Given the description of an element on the screen output the (x, y) to click on. 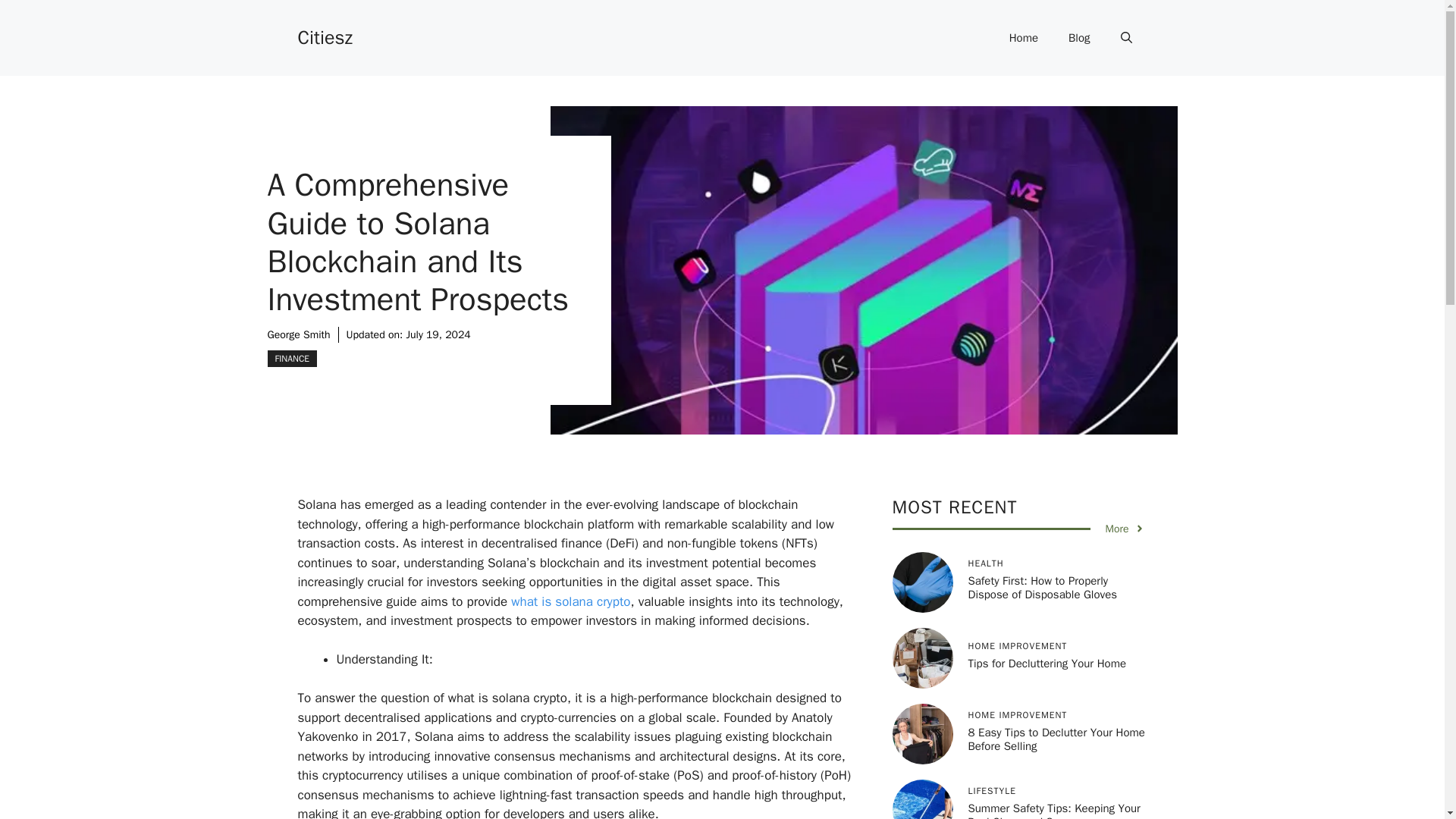
Citiesz (324, 37)
8 Easy Tips to Declutter Your Home Before Selling (1056, 738)
FINANCE (291, 358)
Summer Safety Tips: Keeping Your Pool Clean and Secure (1054, 810)
Blog (1078, 37)
what is solana crypto (568, 601)
Home (1023, 37)
Safety First: How to Properly Dispose of Disposable Gloves (1042, 587)
George Smith (298, 334)
Tips for Decluttering Your Home (1046, 663)
More (1124, 528)
